Given the description of an element on the screen output the (x, y) to click on. 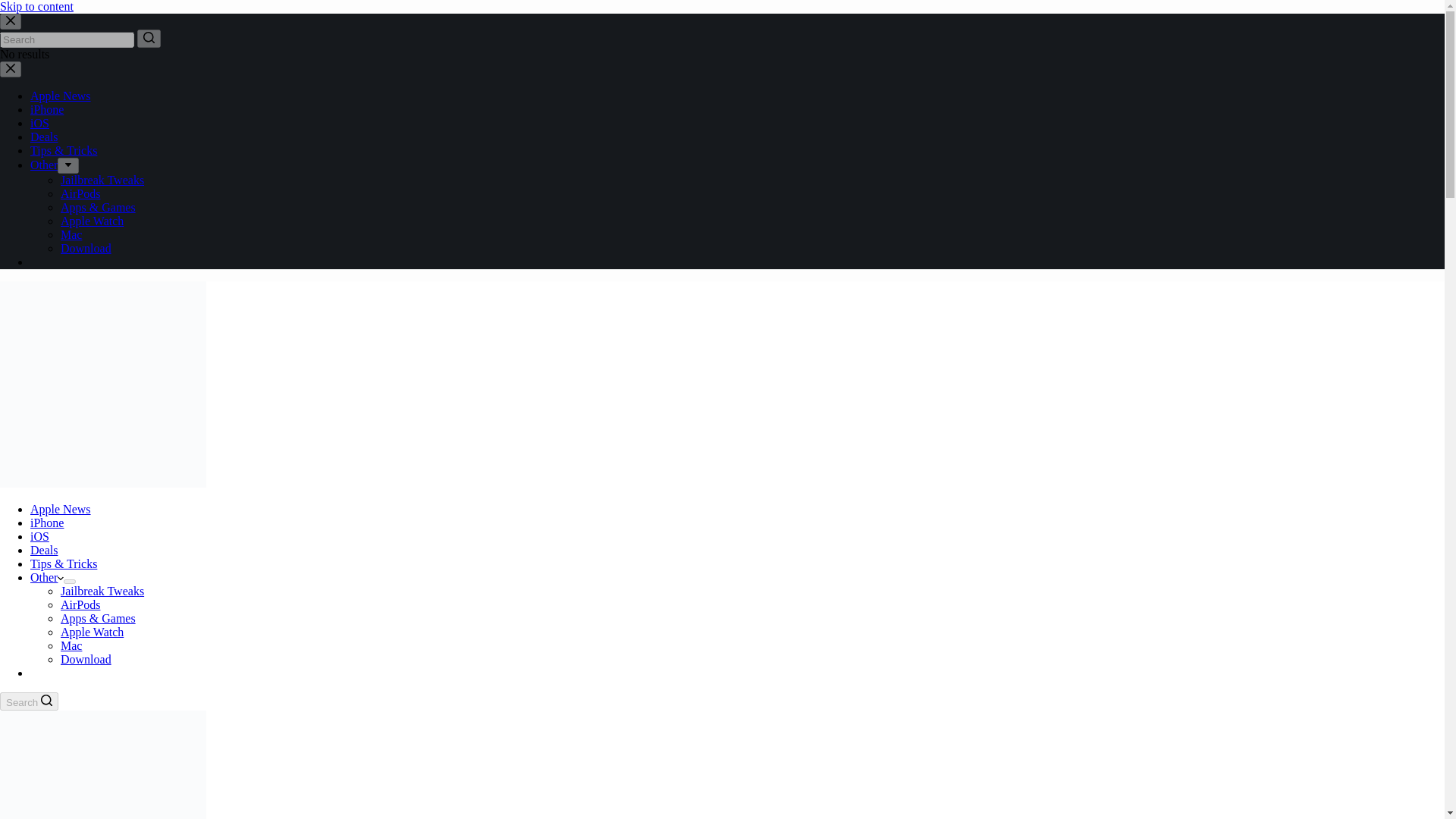
iOS (39, 123)
Apple News (60, 95)
Download (86, 247)
Mac (71, 234)
Apple Watch (92, 631)
Search (29, 701)
Apple Watch (92, 220)
Other (44, 164)
Jailbreak Tweaks (102, 590)
Apple News (60, 508)
